Given the description of an element on the screen output the (x, y) to click on. 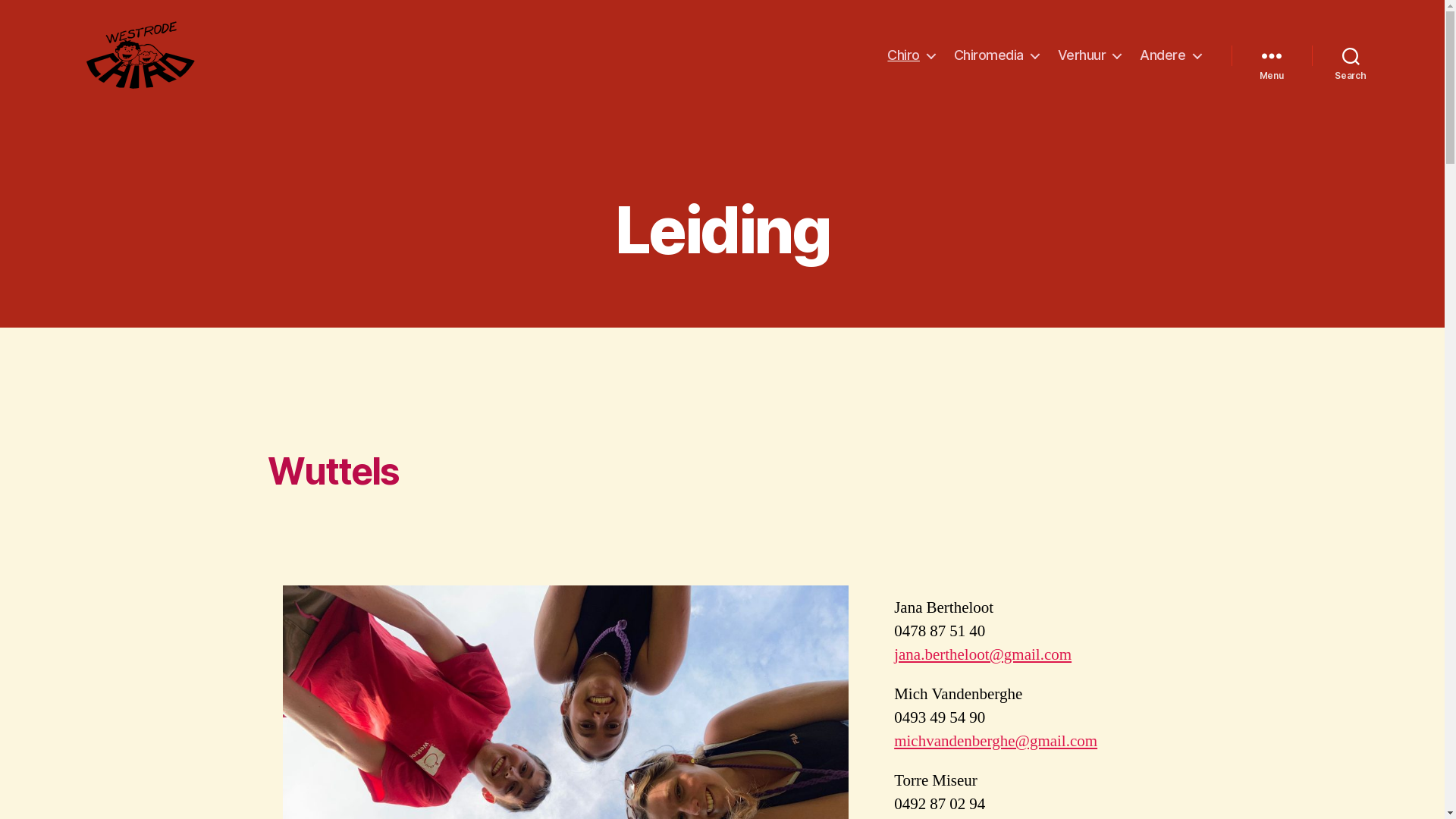
michvandenberghe@gmail.com Element type: text (995, 741)
Menu Element type: text (1271, 55)
jana.bertheloot@gmail.com Element type: text (982, 654)
Verhuur Element type: text (1089, 55)
Andere Element type: text (1169, 55)
Chiro Element type: text (911, 55)
Search Element type: text (1350, 55)
Chiromedia Element type: text (995, 55)
